Given the description of an element on the screen output the (x, y) to click on. 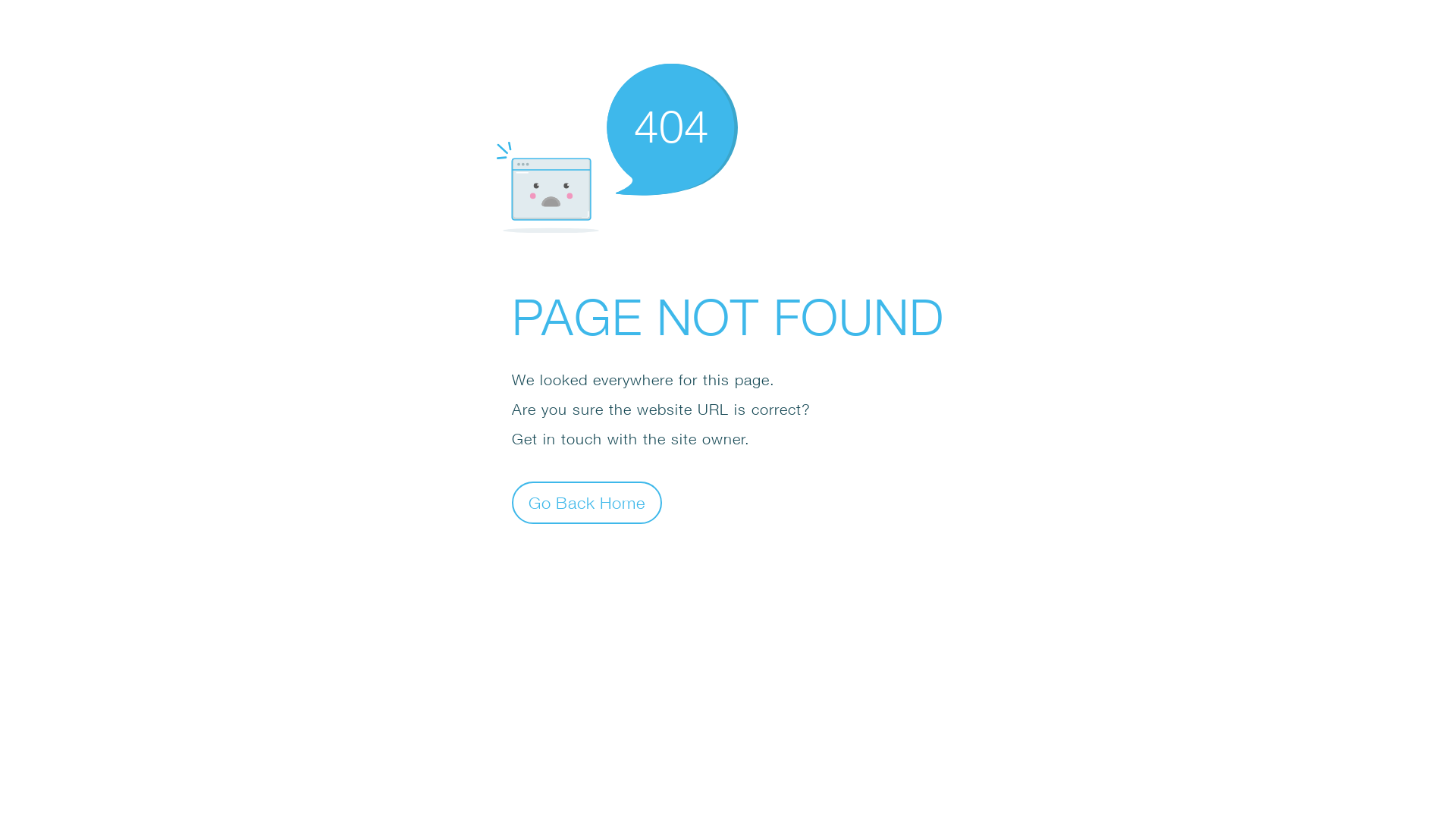
Go Back Home Element type: text (586, 502)
